Given the description of an element on the screen output the (x, y) to click on. 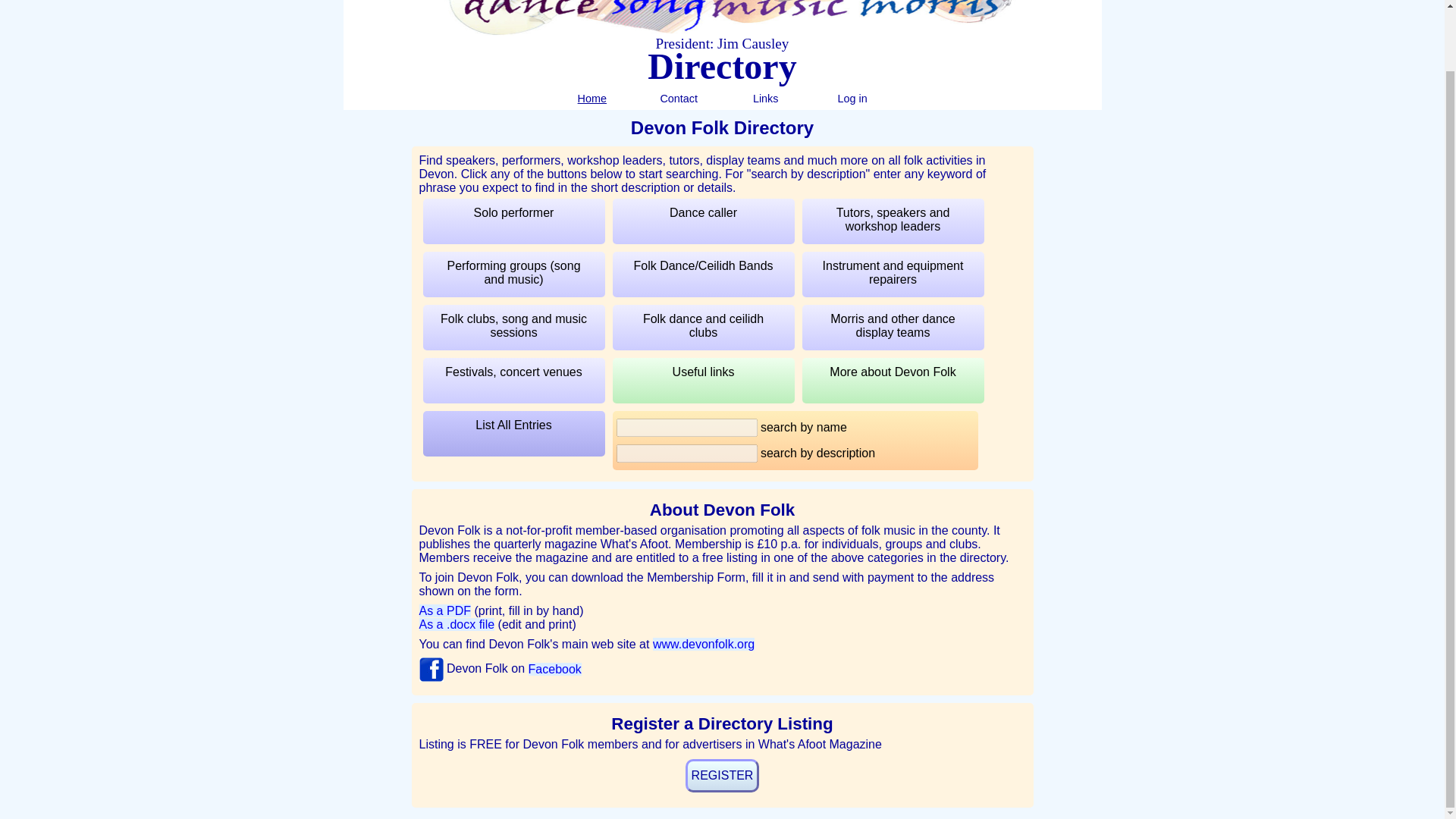
Facebook (554, 668)
REGISTER (722, 775)
Instrument and equipment repairers (893, 274)
As a .docx file (457, 624)
www.devonfolk.org (703, 644)
As a PDF (444, 610)
Useful links (703, 380)
Morris and other dance display teams (893, 327)
Links (765, 98)
More about Devon Folk (893, 380)
List All Entries (514, 433)
Folk dance and ceilidh clubs (703, 327)
Folk clubs, song and music sessions (514, 327)
REGISTER (722, 775)
Contact (678, 98)
